Given the description of an element on the screen output the (x, y) to click on. 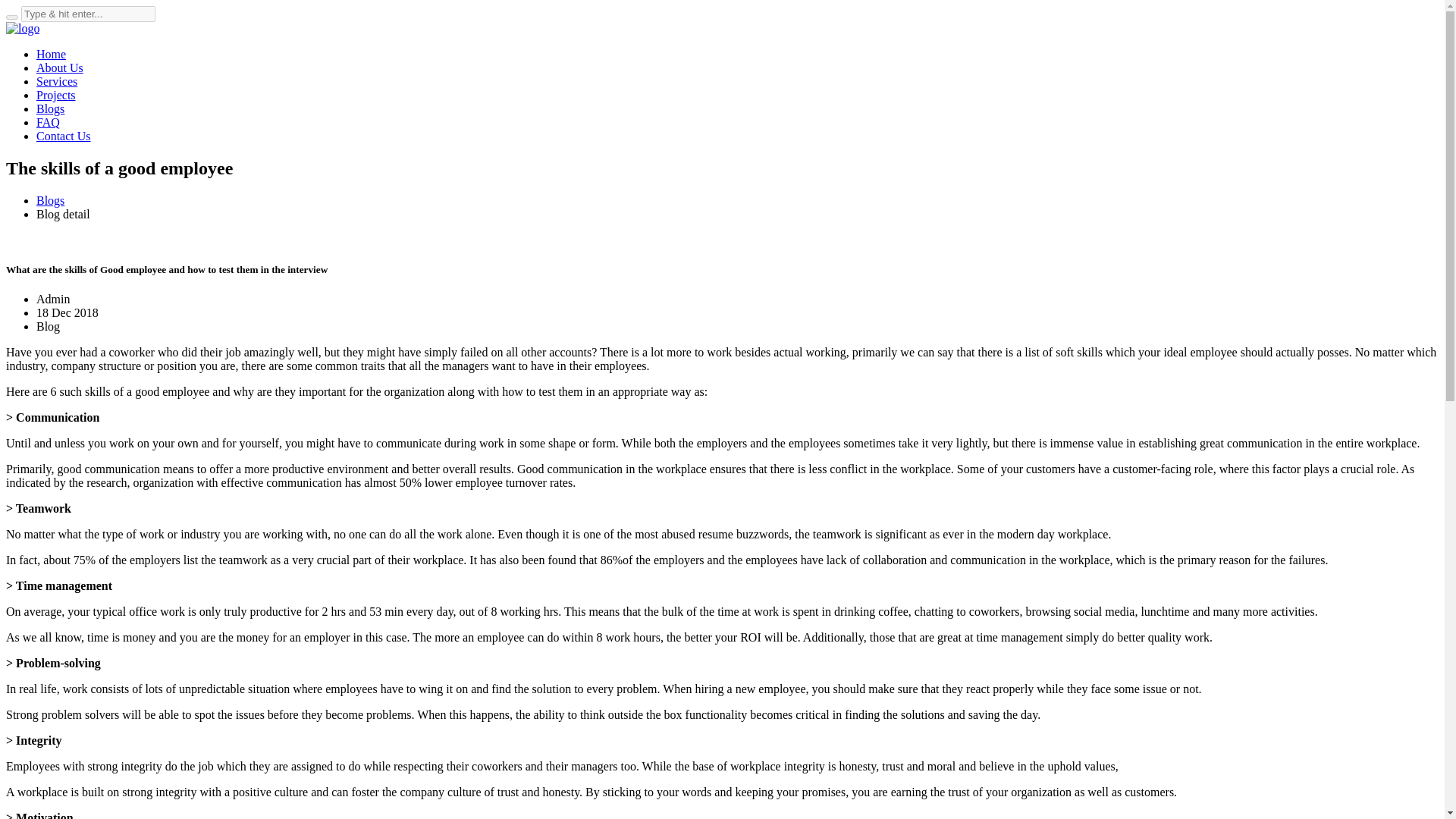
Blog detail (63, 214)
Contact Us (63, 135)
FAQ (47, 122)
About Us (59, 67)
Blogs (50, 200)
Blog (47, 326)
Home (50, 53)
Admin (52, 298)
Services (56, 81)
Projects (55, 94)
18 Dec 2018 (67, 312)
Blogs (50, 108)
